Given the description of an element on the screen output the (x, y) to click on. 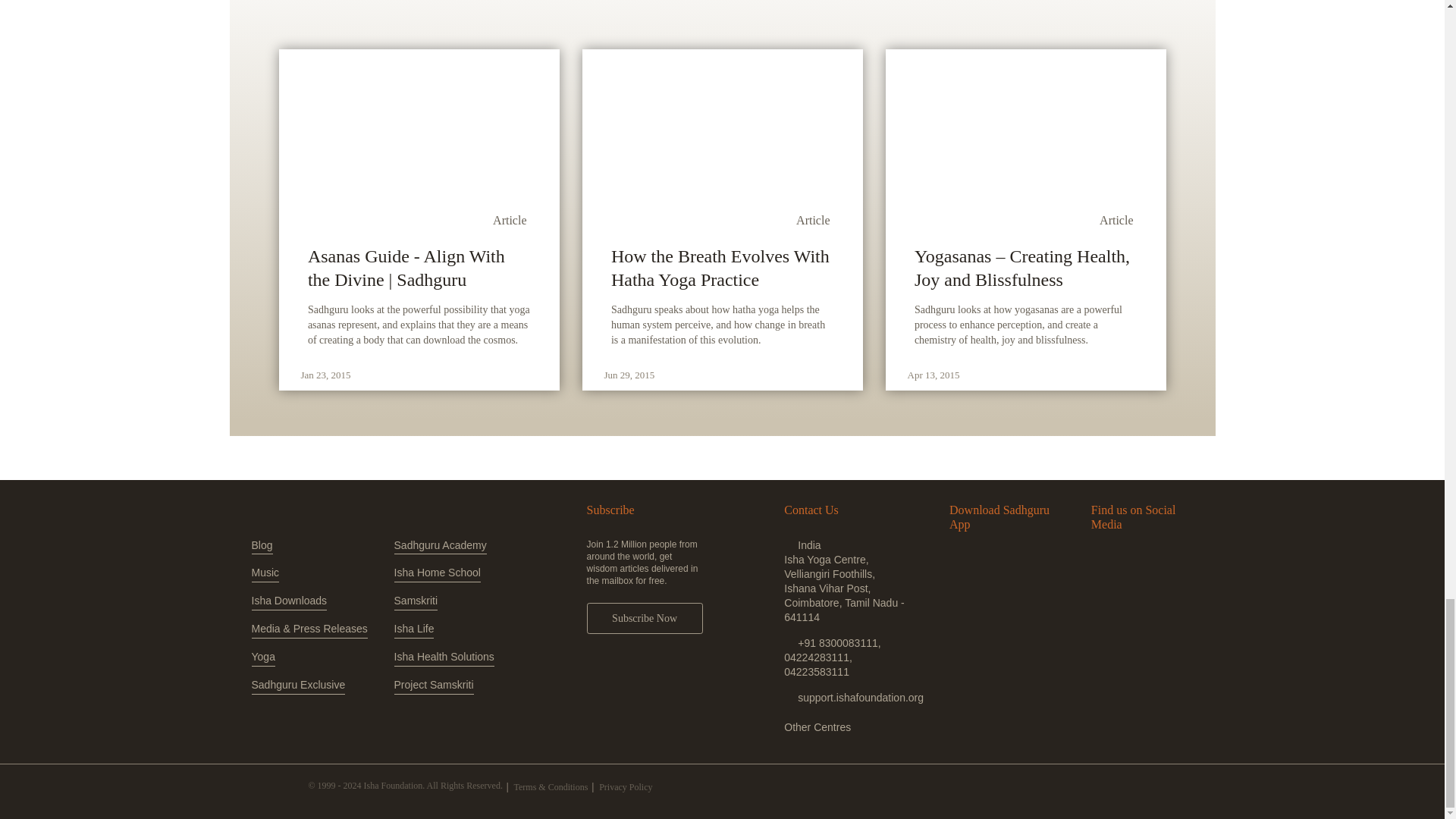
How the Breath Evolves With Hatha Yoga Practice (721, 267)
